Given the description of an element on the screen output the (x, y) to click on. 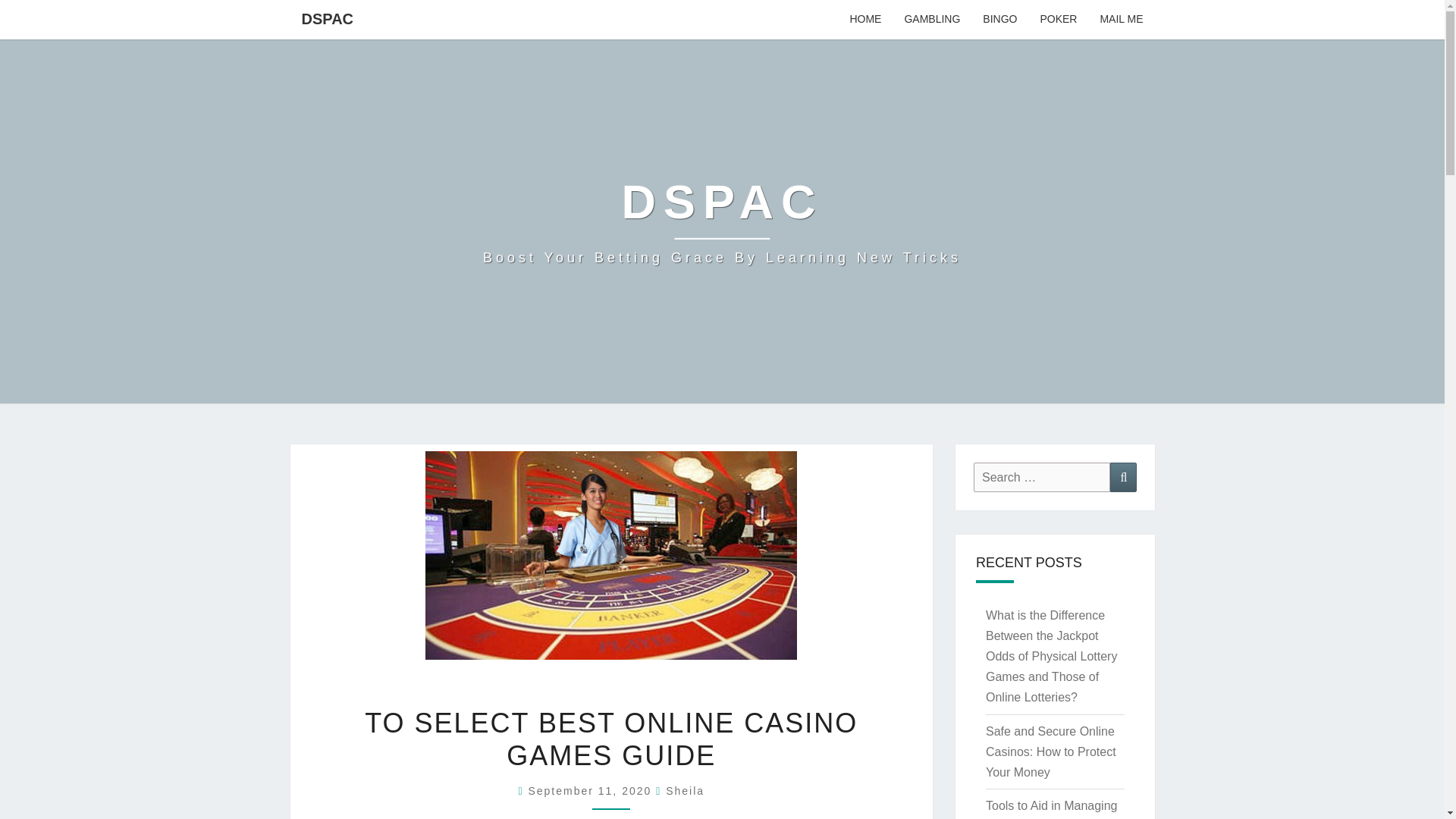
GAMBLING (931, 19)
Sheila (684, 790)
Dspac (721, 221)
4:43 am (591, 790)
Search for: (1041, 477)
POKER (1057, 19)
BINGO (999, 19)
Safe and Secure Online Casinos: How to Protect Your Money (1050, 751)
